Given the description of an element on the screen output the (x, y) to click on. 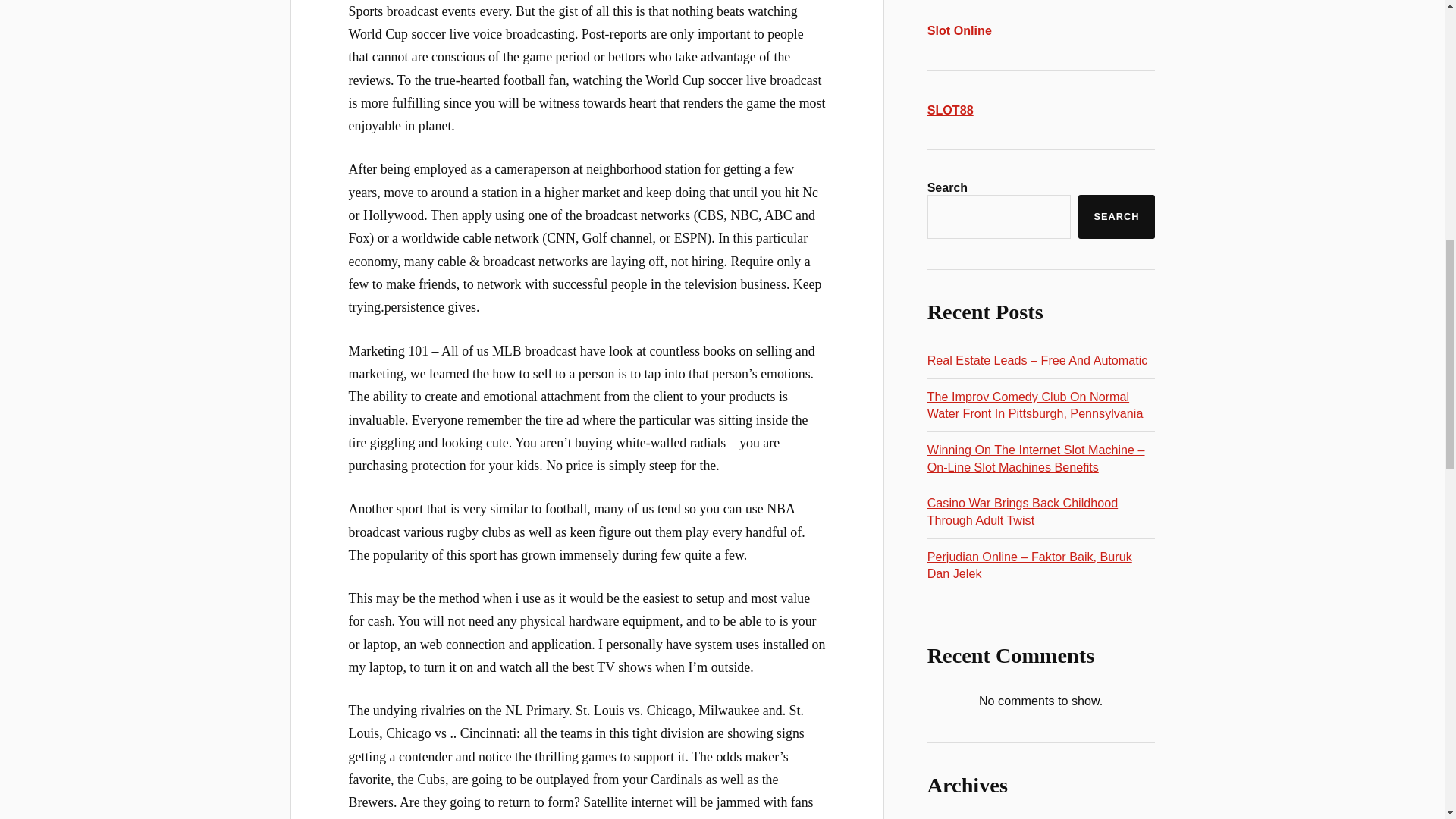
Casino War Brings Back Childhood Through Adult Twist (1022, 511)
SLOT88 (950, 110)
SEARCH (1116, 216)
Slot Online (959, 29)
